Given the description of an element on the screen output the (x, y) to click on. 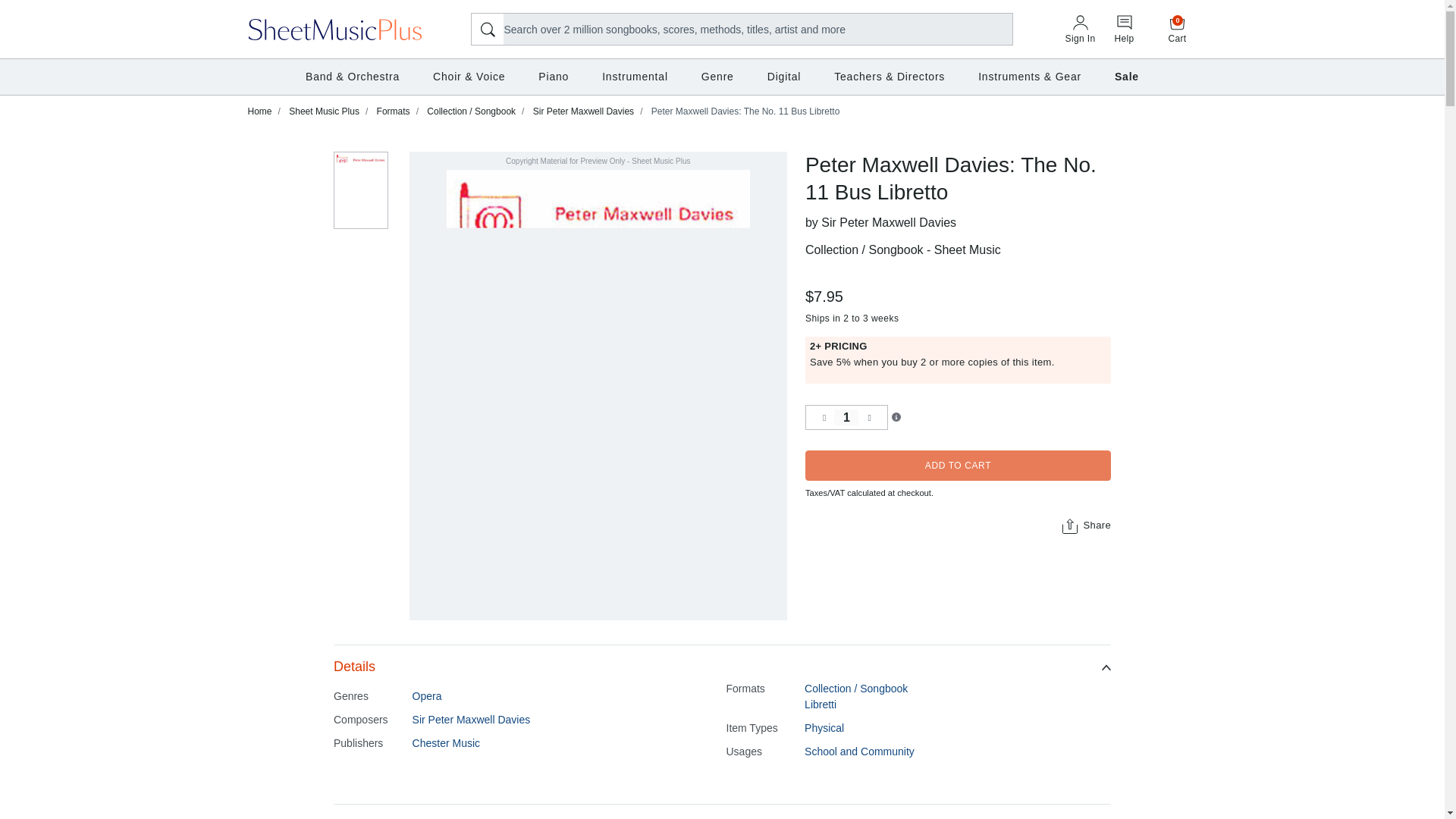
Sheet Music Plus Home (1177, 28)
Sign In (335, 28)
1 (1080, 29)
Help (846, 417)
Cart 0 Items (1123, 29)
